Given the description of an element on the screen output the (x, y) to click on. 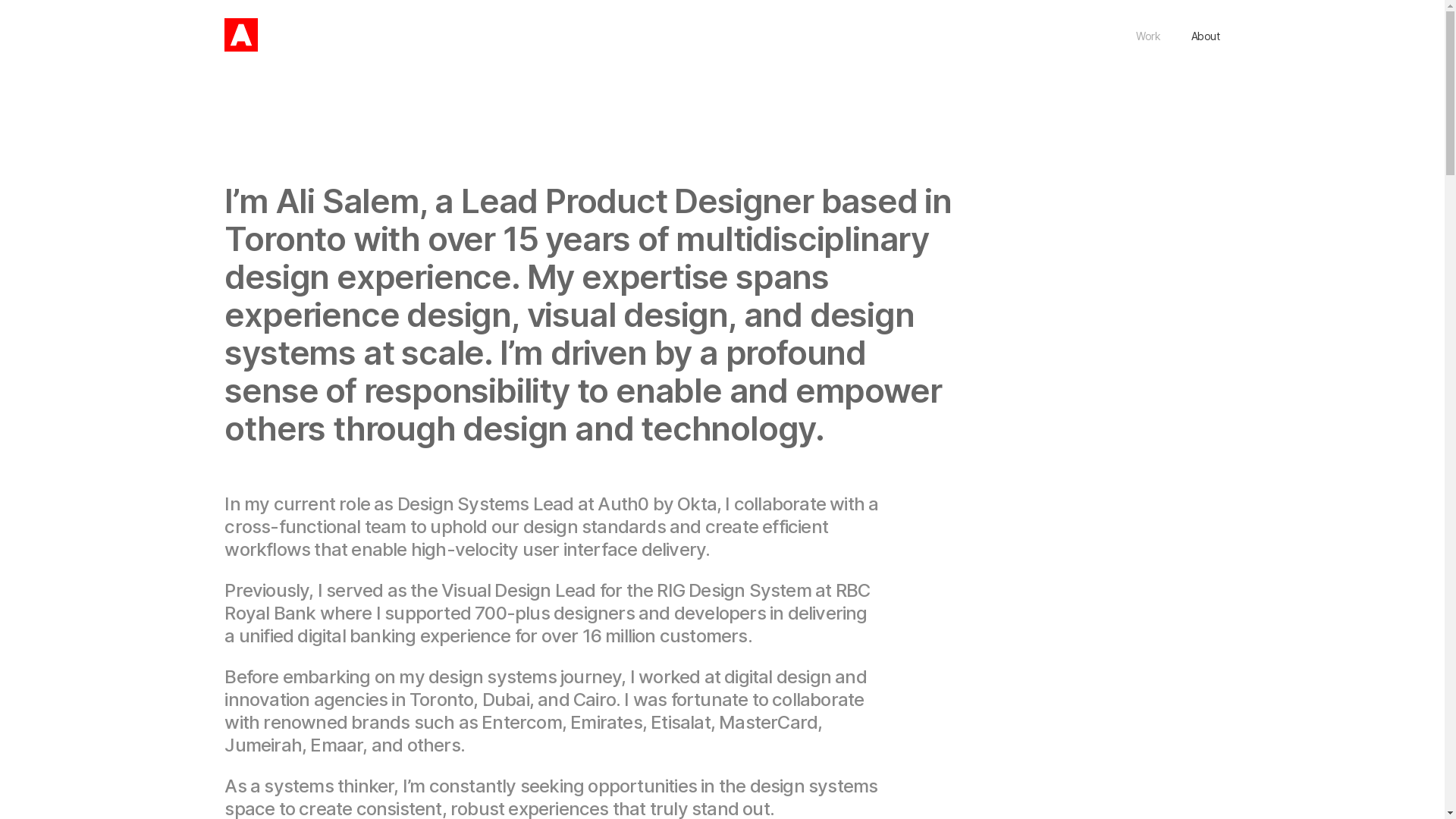
About Element type: text (1198, 35)
Work Element type: text (1147, 35)
Ali Salem Element type: hover (240, 36)
